Given the description of an element on the screen output the (x, y) to click on. 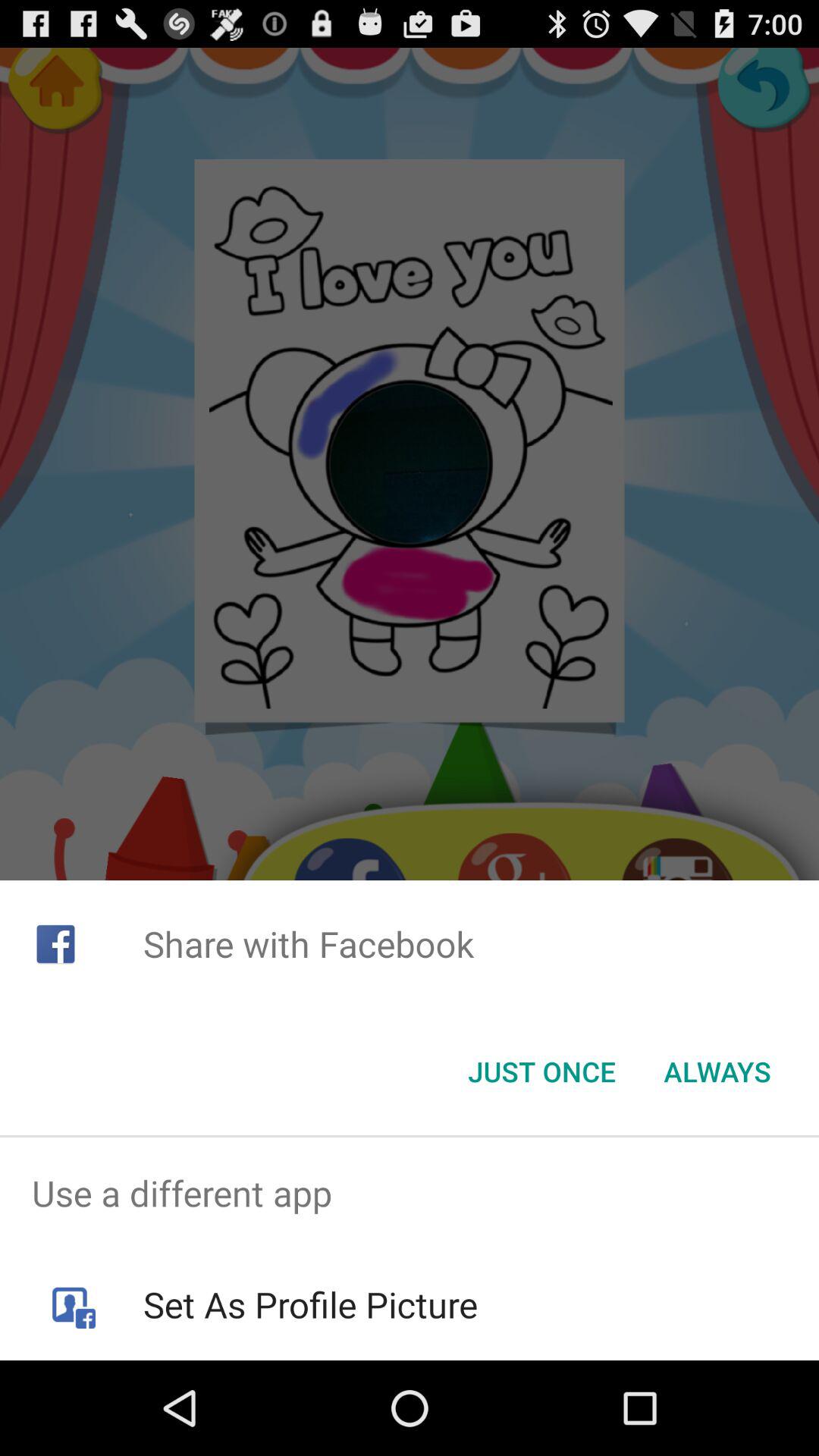
press item below the share with facebook icon (717, 1071)
